Given the description of an element on the screen output the (x, y) to click on. 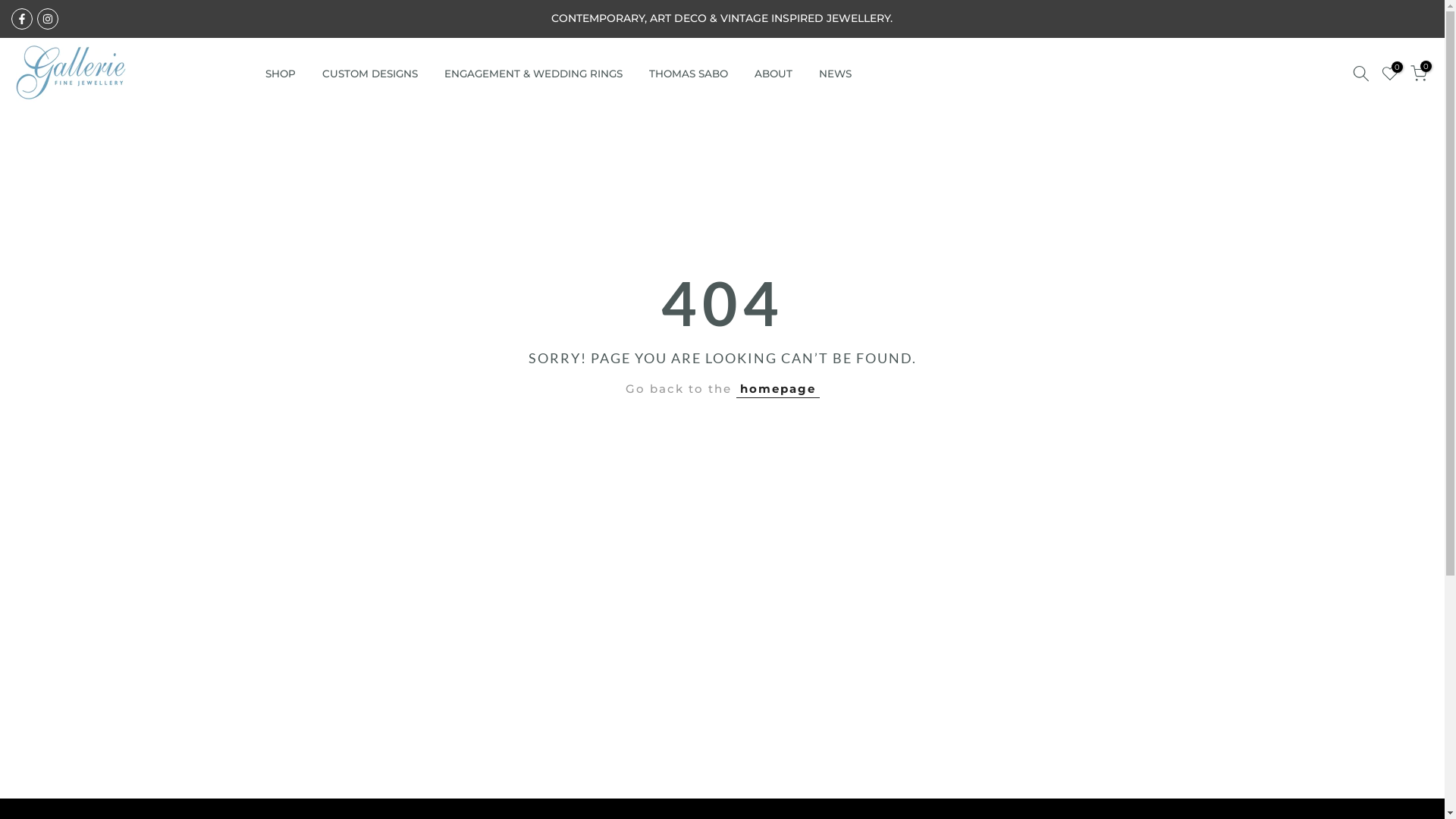
0 Element type: text (1418, 73)
homepage Element type: text (777, 388)
CUSTOM DESIGNS Element type: text (369, 74)
Follow on Instagram Element type: hover (47, 17)
ENGAGEMENT & WEDDING RINGS Element type: text (532, 74)
NEWS Element type: text (834, 74)
SHOP Element type: text (279, 74)
ABOUT Element type: text (772, 74)
Follow on Facebook Element type: hover (21, 17)
0 Element type: text (1389, 73)
THOMAS SABO Element type: text (687, 74)
